Given the description of an element on the screen output the (x, y) to click on. 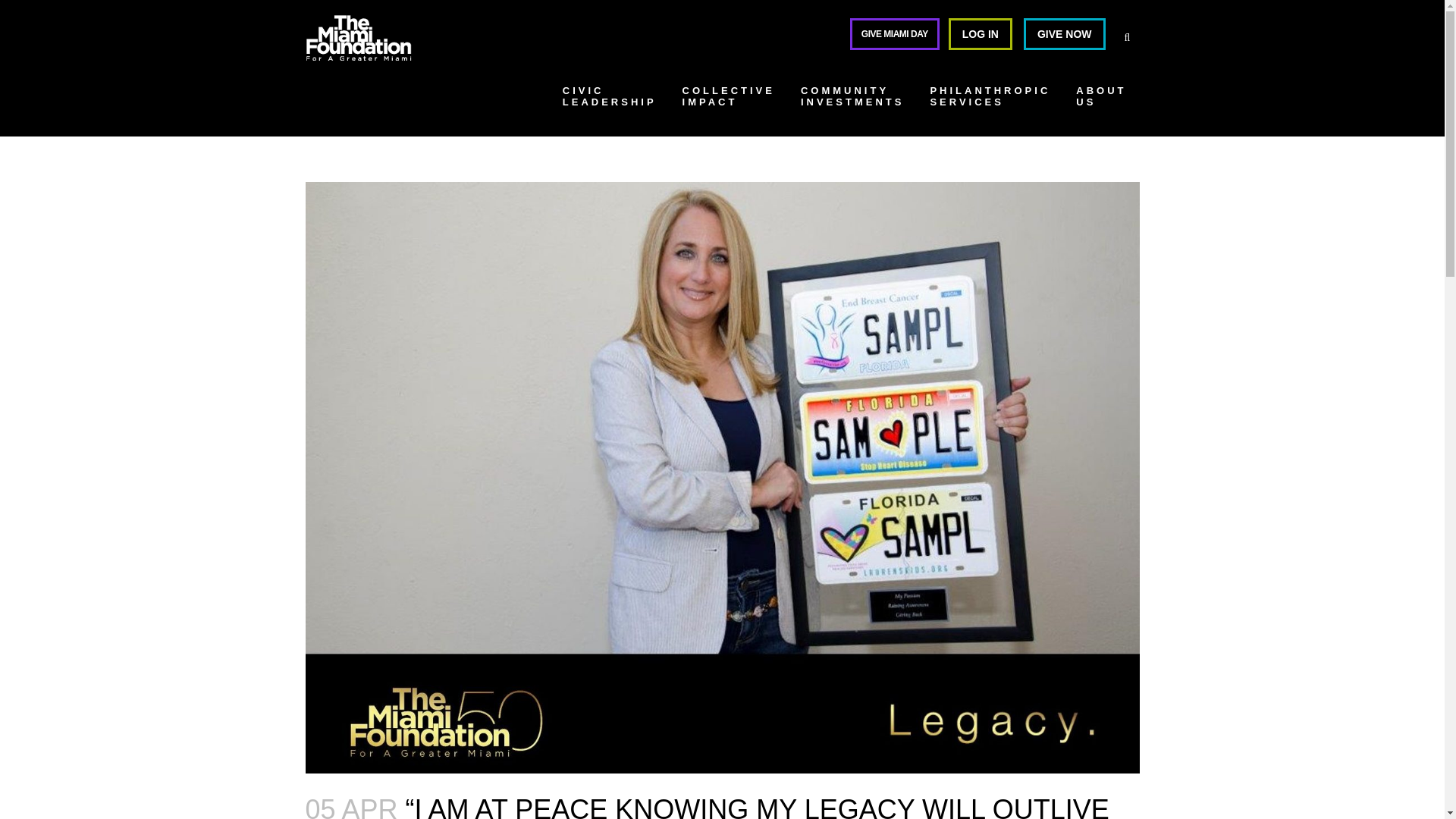
GIVE NOW (1064, 33)
